Given the description of an element on the screen output the (x, y) to click on. 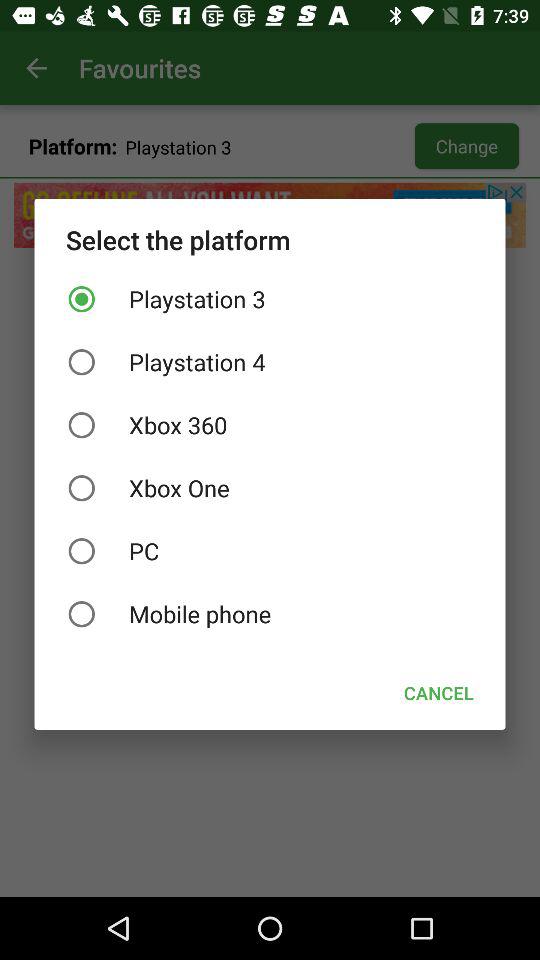
click the item at the bottom right corner (438, 692)
